Given the description of an element on the screen output the (x, y) to click on. 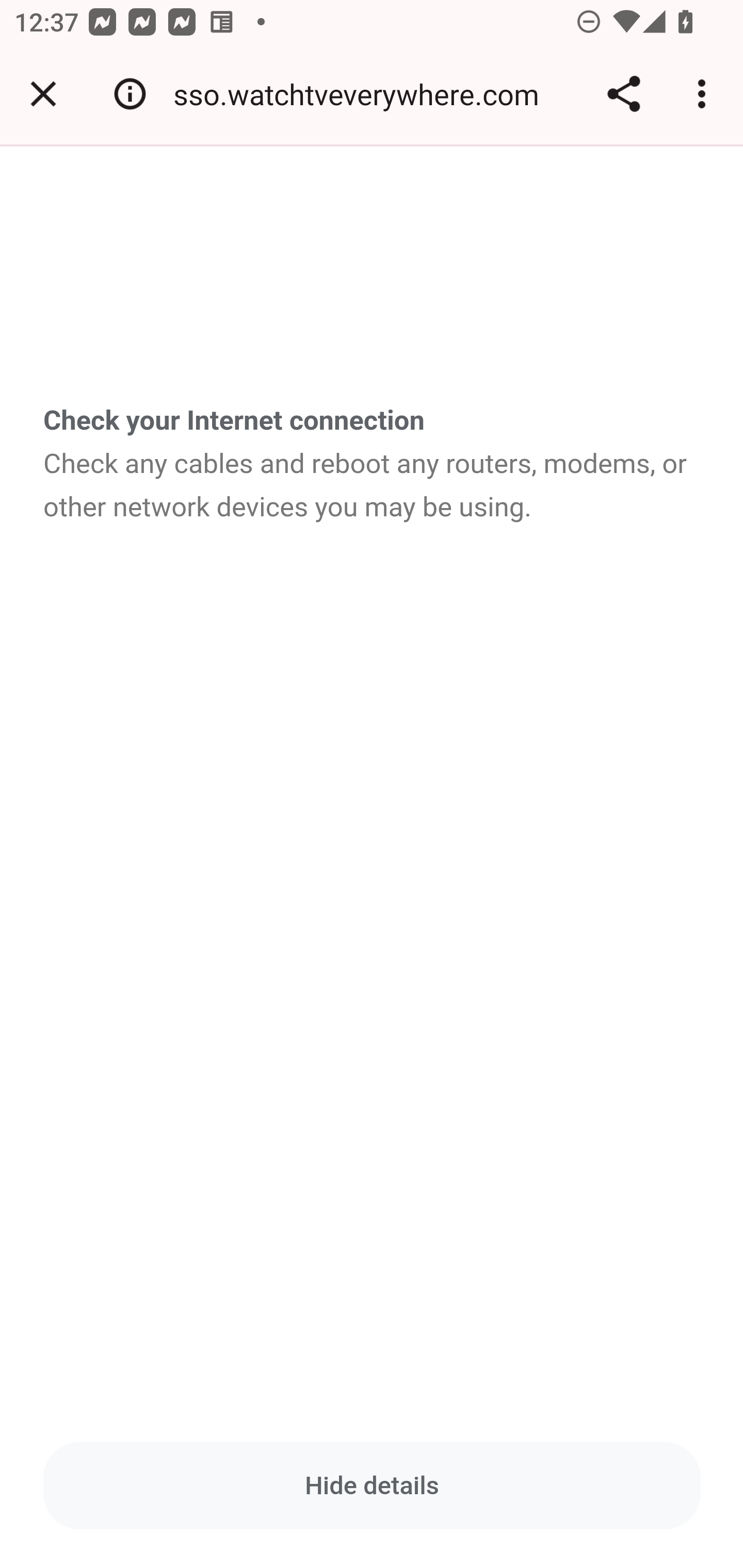
Close tab (43, 93)
Share (623, 93)
Customize and control Google Chrome (705, 93)
Your connection to this site is not secure (129, 93)
sso.watchtveverywhere.com (363, 93)
Hide details (372, 1485)
